Given the description of an element on the screen output the (x, y) to click on. 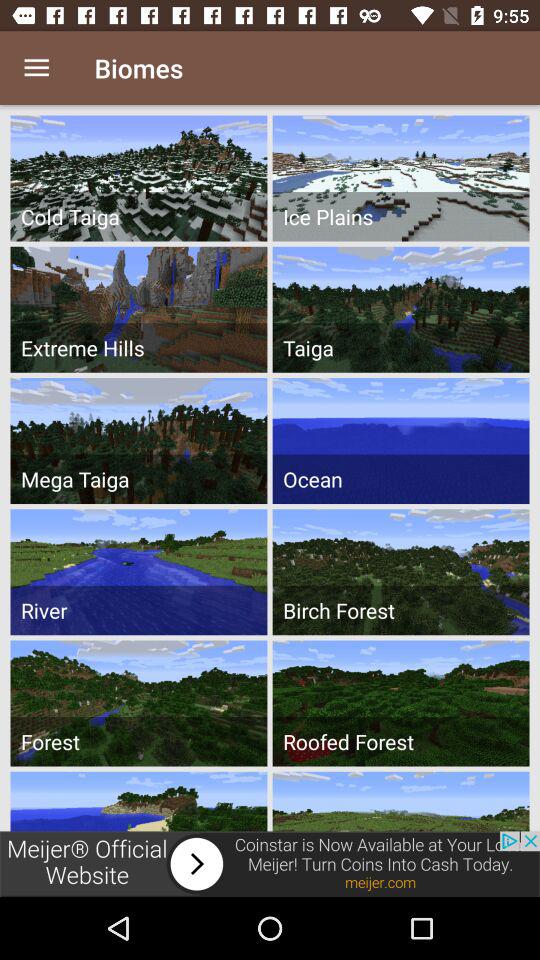
go to next (270, 864)
